Given the description of an element on the screen output the (x, y) to click on. 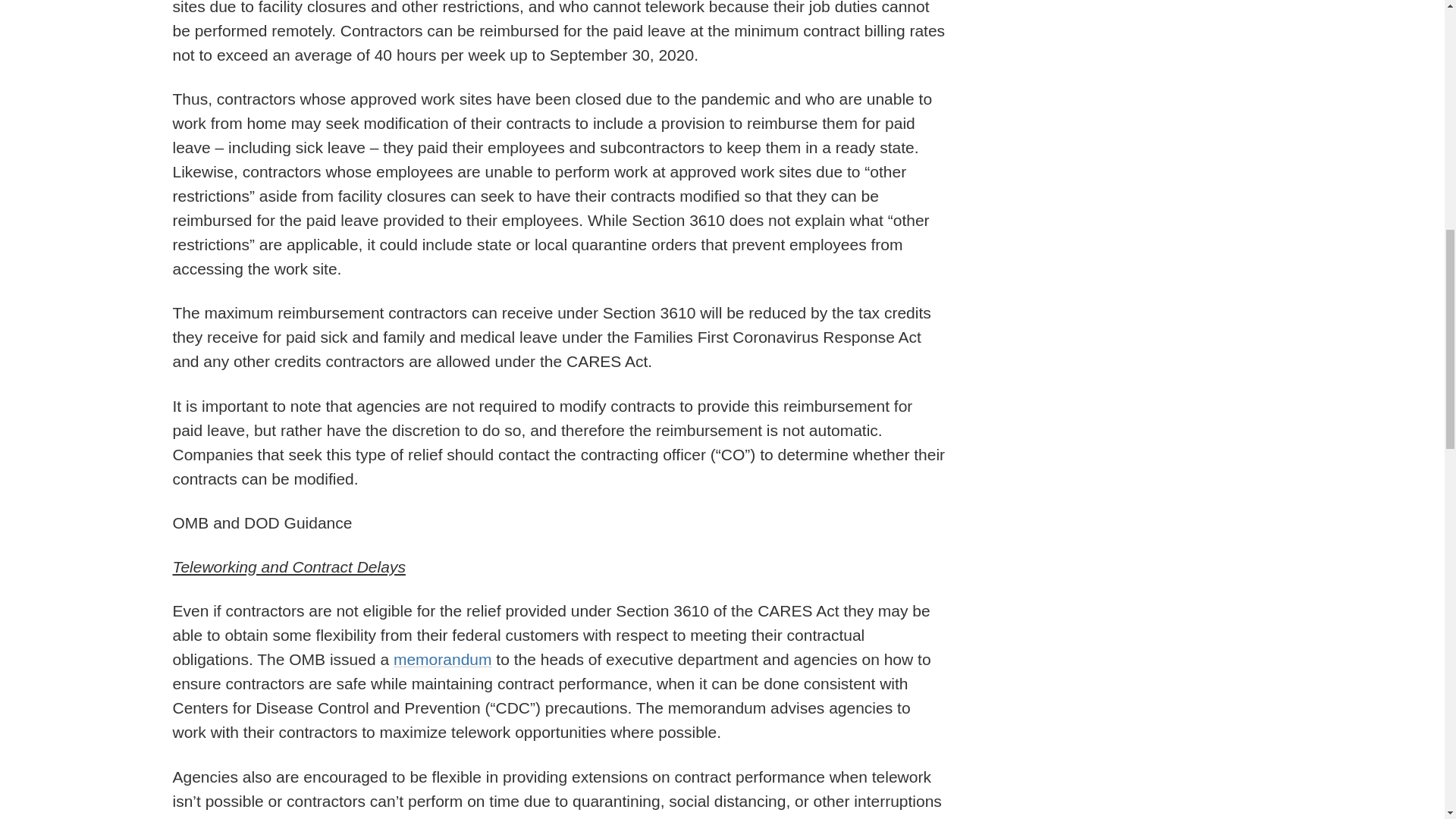
memorandum (442, 659)
